Given the description of an element on the screen output the (x, y) to click on. 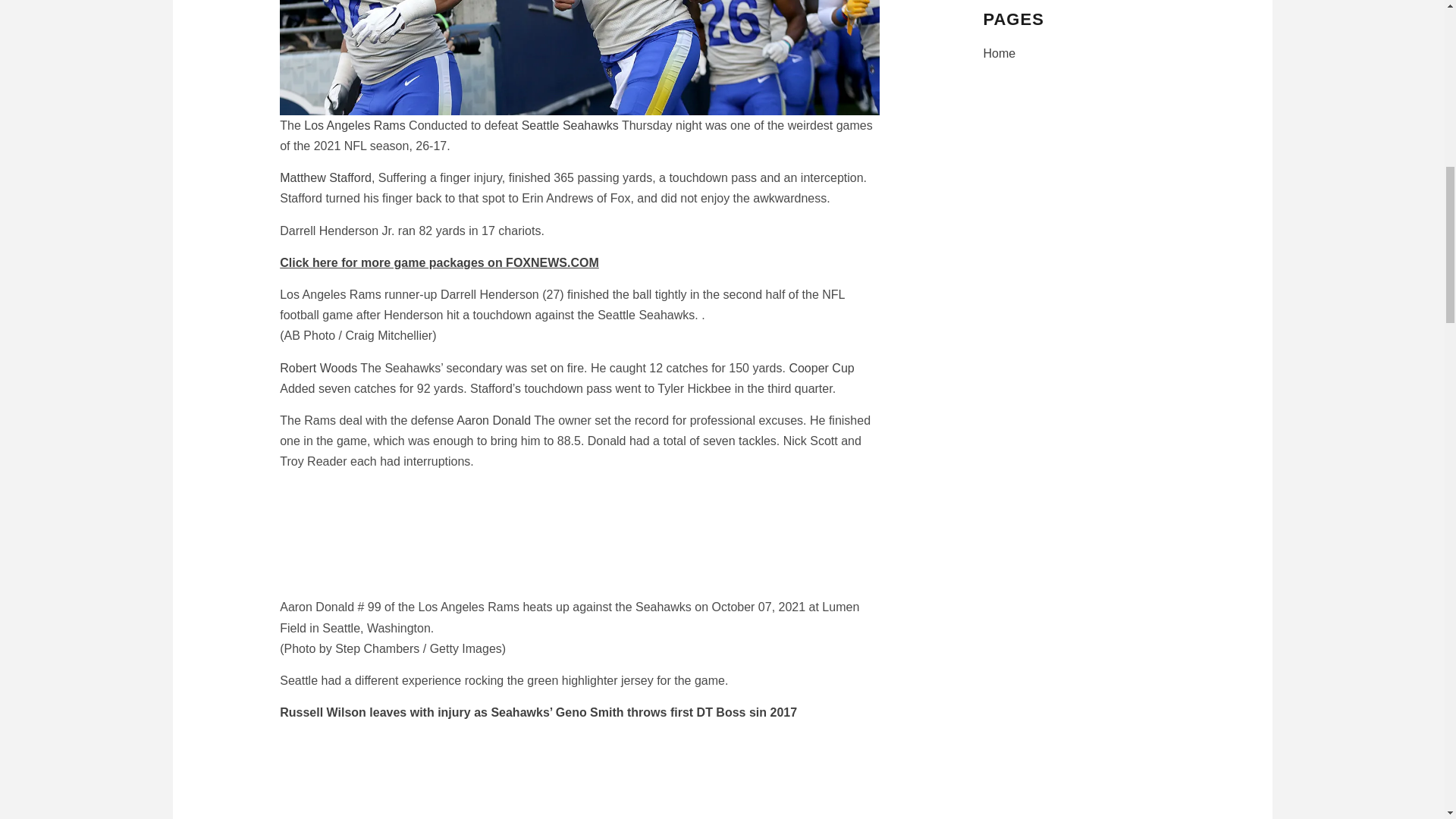
Cooper Cup (821, 367)
Seattle Seahawks (569, 124)
Robert Woods (317, 367)
Matthew Stafford (325, 177)
Aaron Donald (494, 420)
Click here for more game packages on FOXNEWS.COM (438, 262)
Los Angeles Rams (354, 124)
